Given the description of an element on the screen output the (x, y) to click on. 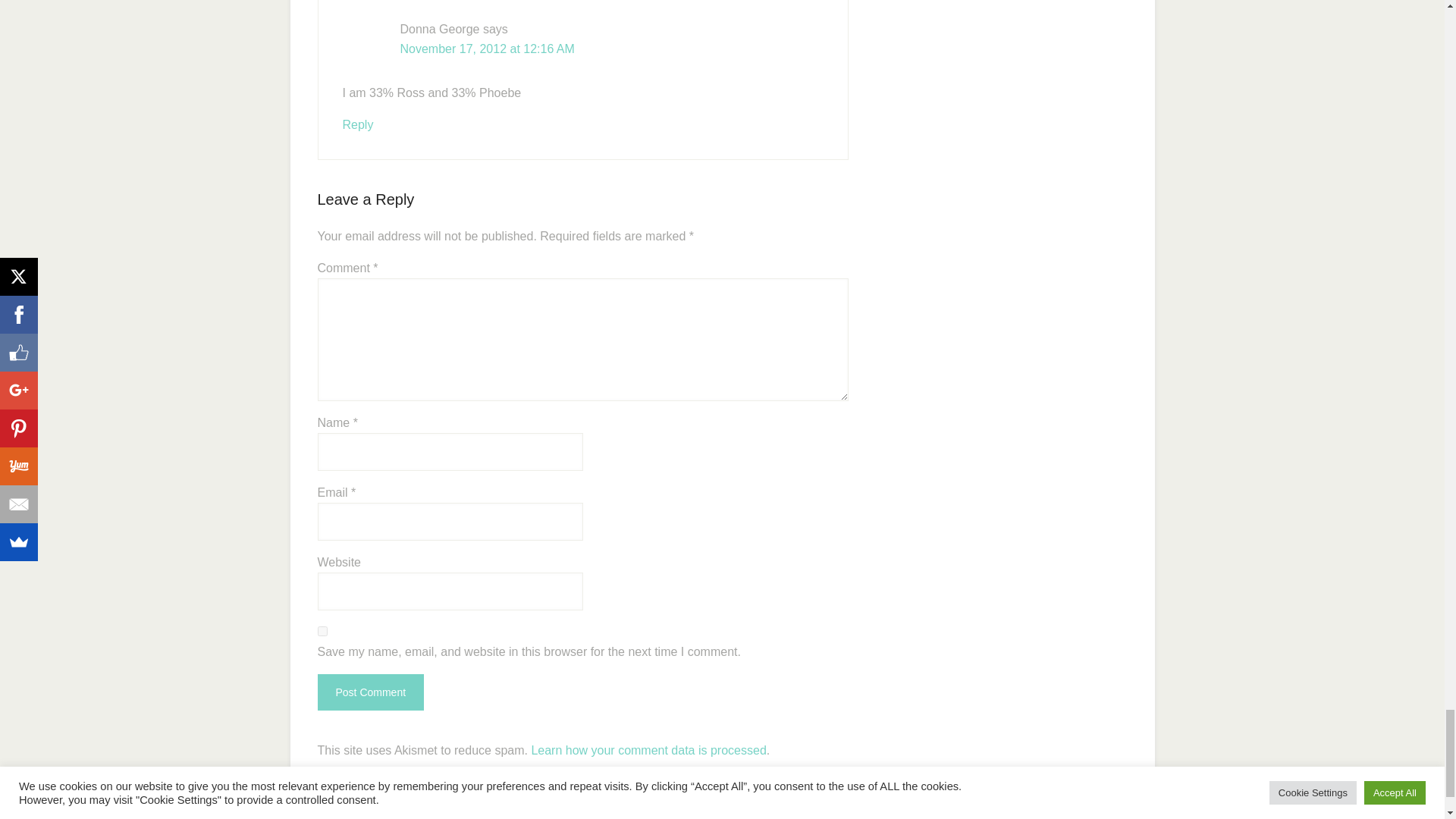
Post Comment (370, 692)
yes (321, 631)
